Given the description of an element on the screen output the (x, y) to click on. 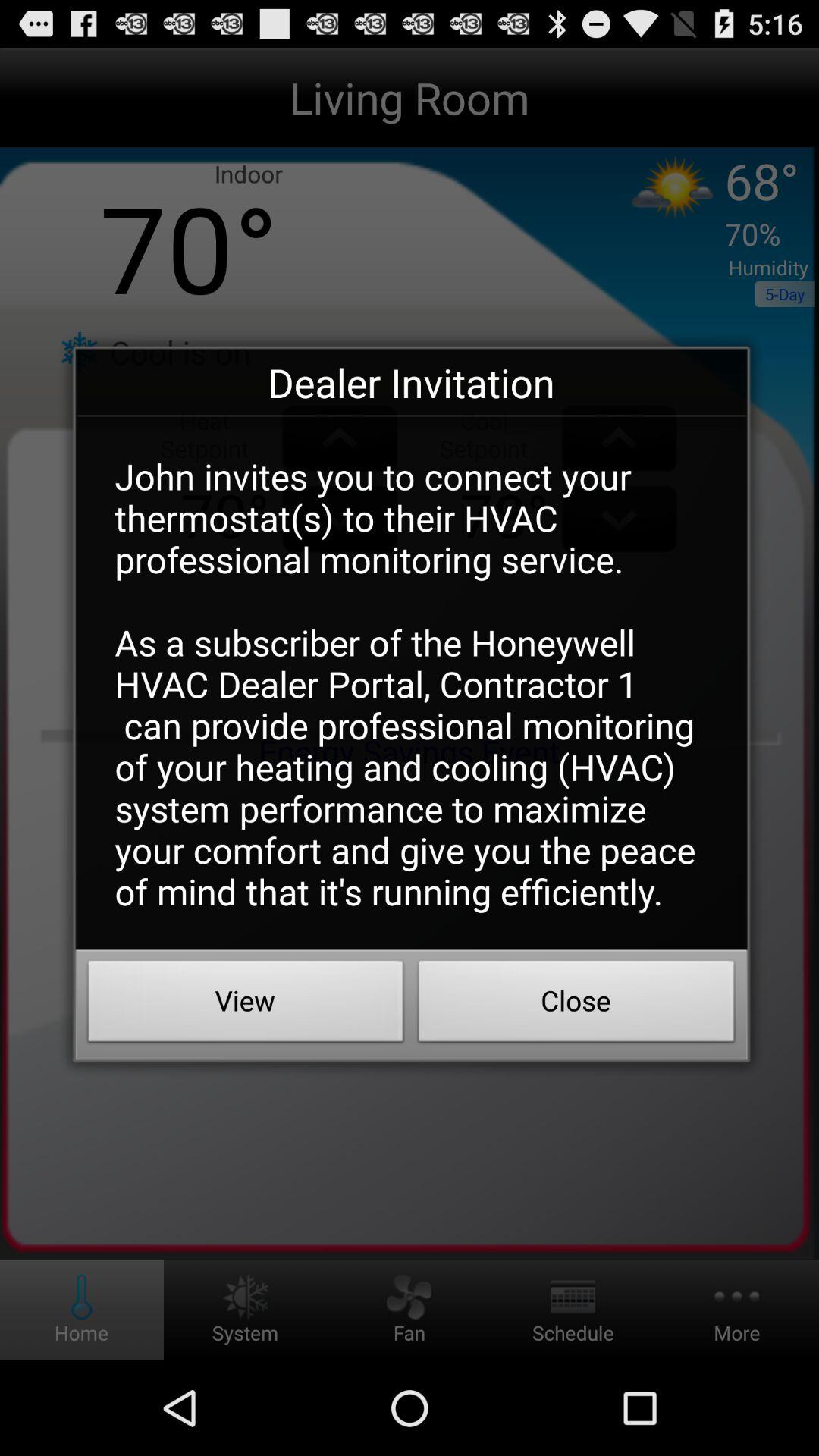
jump until view button (245, 1005)
